Given the description of an element on the screen output the (x, y) to click on. 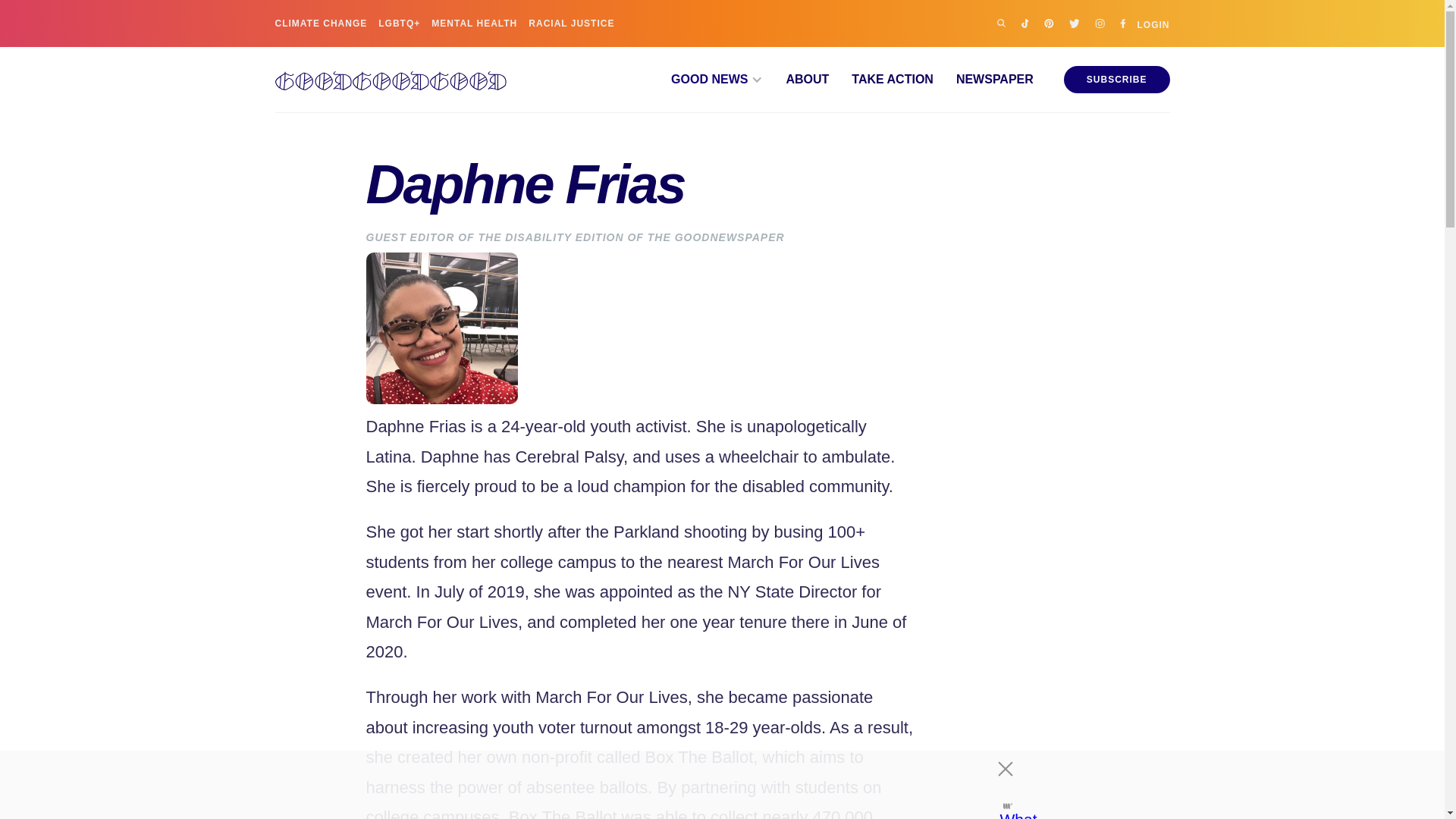
LOGIN (1153, 23)
NEWSPAPER (983, 79)
ABOUT (795, 79)
SUBSCRIBE (1117, 79)
3rd party ad content (708, 785)
CLIMATE CHANGE (320, 22)
MENTAL HEALTH (473, 22)
TAKE ACTION (880, 79)
RACIAL JUSTICE (571, 22)
